Given the description of an element on the screen output the (x, y) to click on. 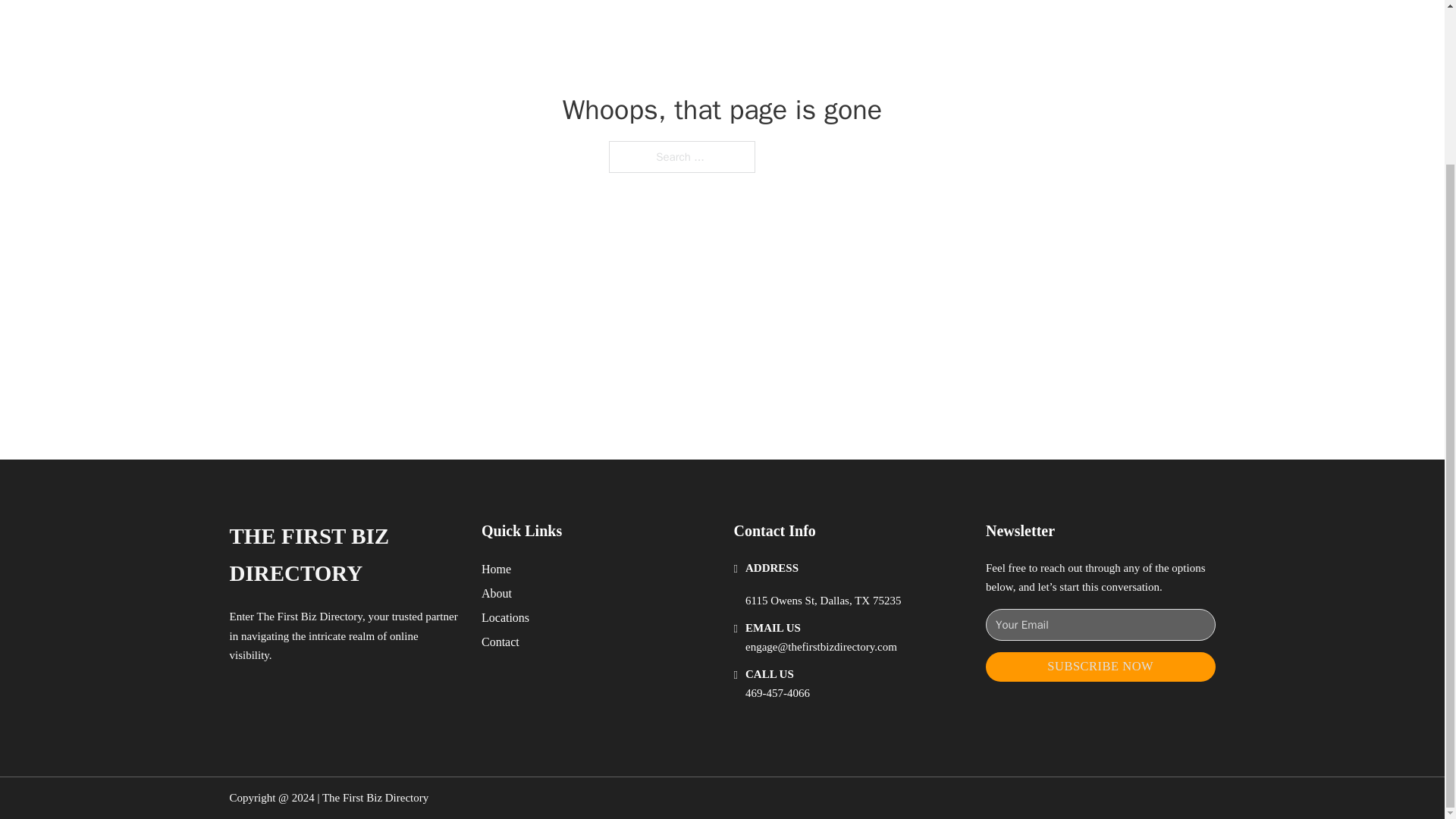
Locations (505, 617)
Home (496, 568)
About (496, 593)
THE FIRST BIZ DIRECTORY (343, 554)
469-457-4066 (777, 693)
SUBSCRIBE NOW (1100, 666)
Contact (500, 641)
